Given the description of an element on the screen output the (x, y) to click on. 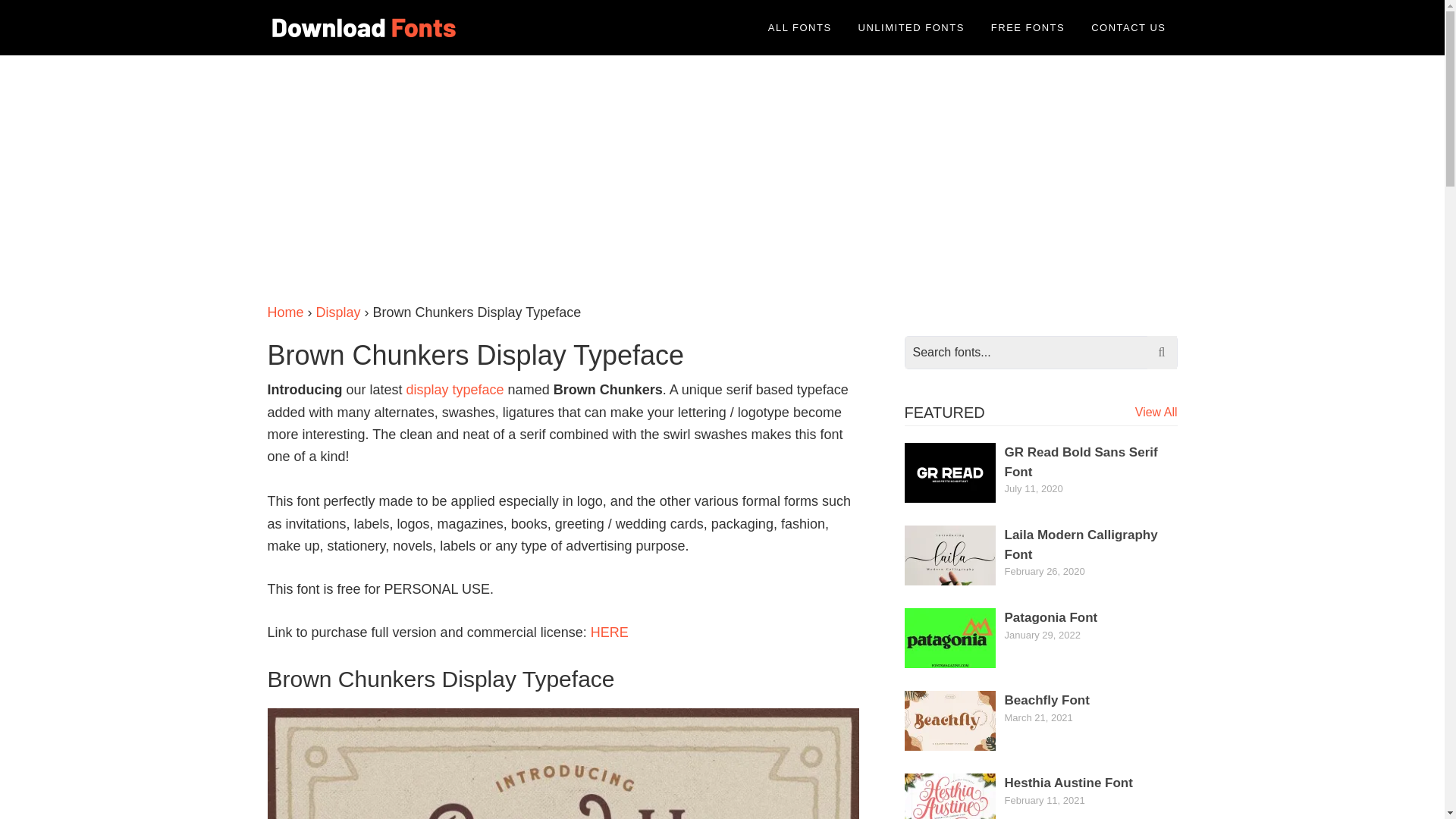
ALL FONTS (800, 27)
display typeface (454, 389)
Display (338, 312)
UNLIMITED FONTS (911, 27)
Home (284, 312)
FREE FONTS (1027, 27)
HERE (609, 631)
CONTACT US (1128, 27)
